Given the description of an element on the screen output the (x, y) to click on. 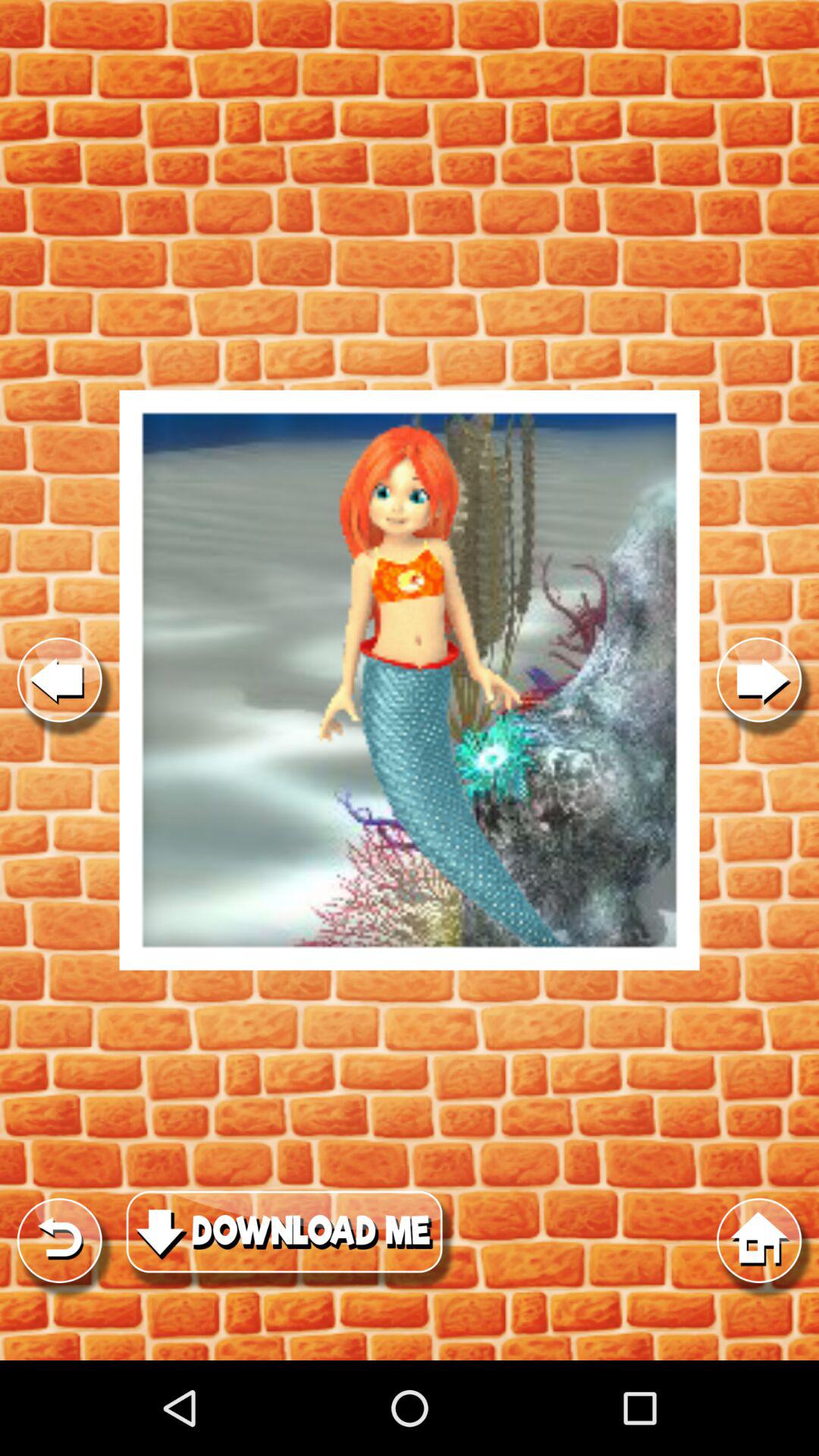
click download (291, 1240)
